Given the description of an element on the screen output the (x, y) to click on. 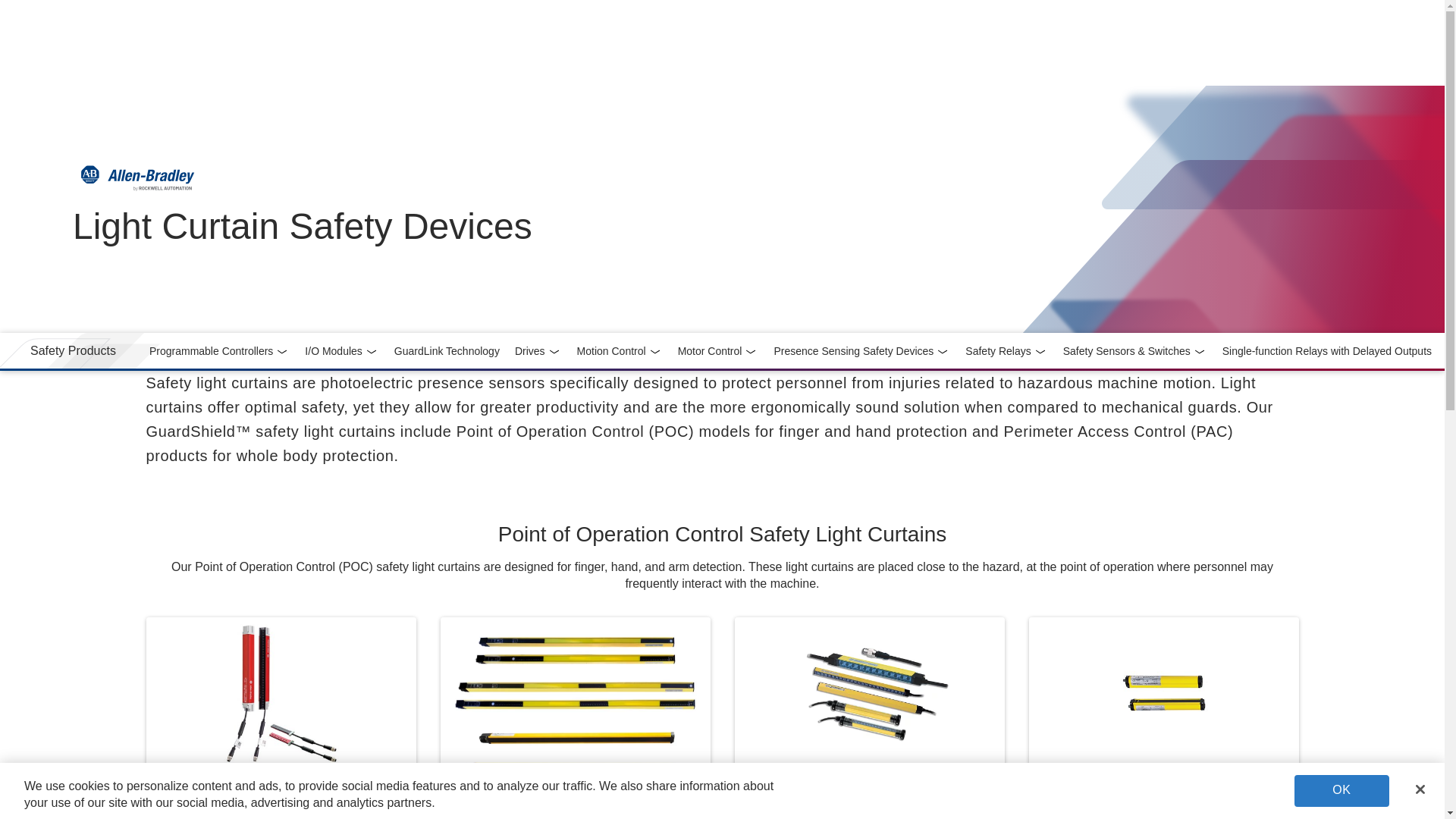
Chevron DownChevron Down (1040, 351)
GuardLink Technology (219, 350)
Chevron DownChevron Down (446, 349)
Chevron DownChevron Down (537, 350)
Safety Products (1199, 351)
Chevron DownChevron Down (654, 351)
Chevron DownChevron Down (73, 350)
Chevron DownChevron Down (282, 351)
